Given the description of an element on the screen output the (x, y) to click on. 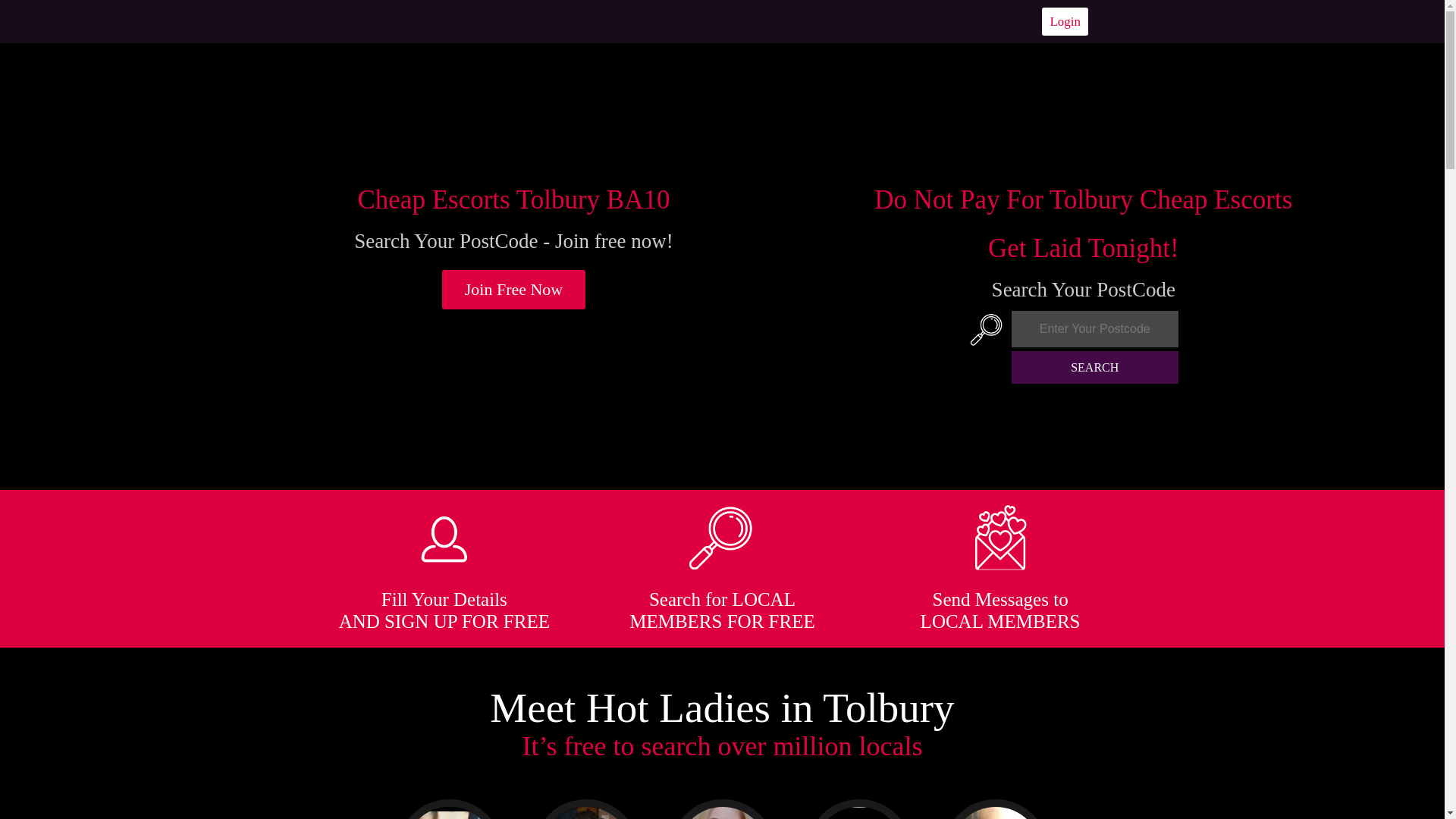
Join Free Now (514, 289)
Login (1064, 21)
SEARCH (1094, 367)
Join (514, 289)
Login (1064, 21)
